Given the description of an element on the screen output the (x, y) to click on. 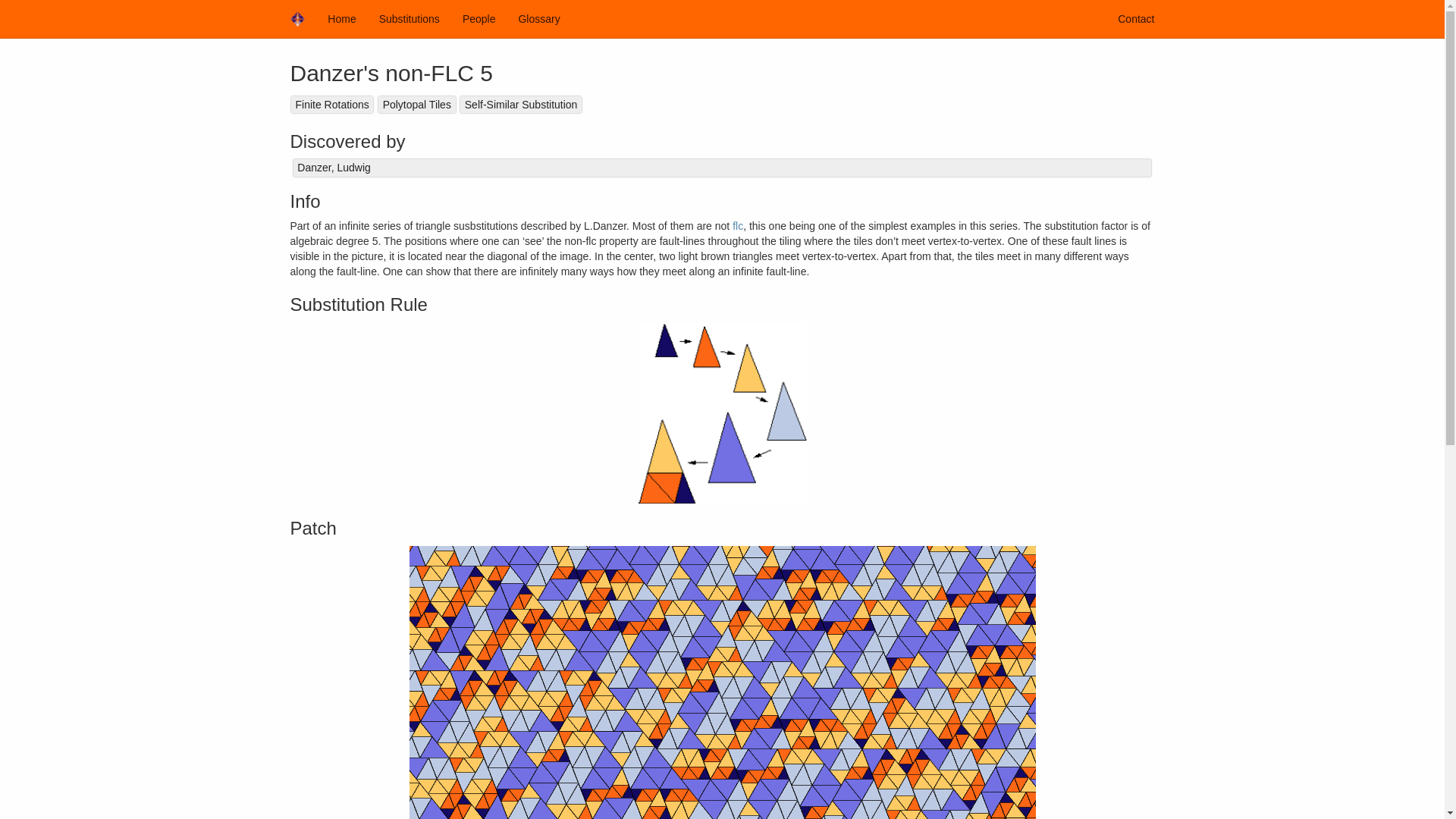
Home (340, 18)
People (478, 18)
Self-Similar Substitution (520, 104)
Danzer, Ludwig (721, 167)
Finite Rotations (331, 104)
Glossary (538, 18)
Substitutions (409, 18)
Contact (1136, 18)
Polytopal Tiles (416, 104)
